Given the description of an element on the screen output the (x, y) to click on. 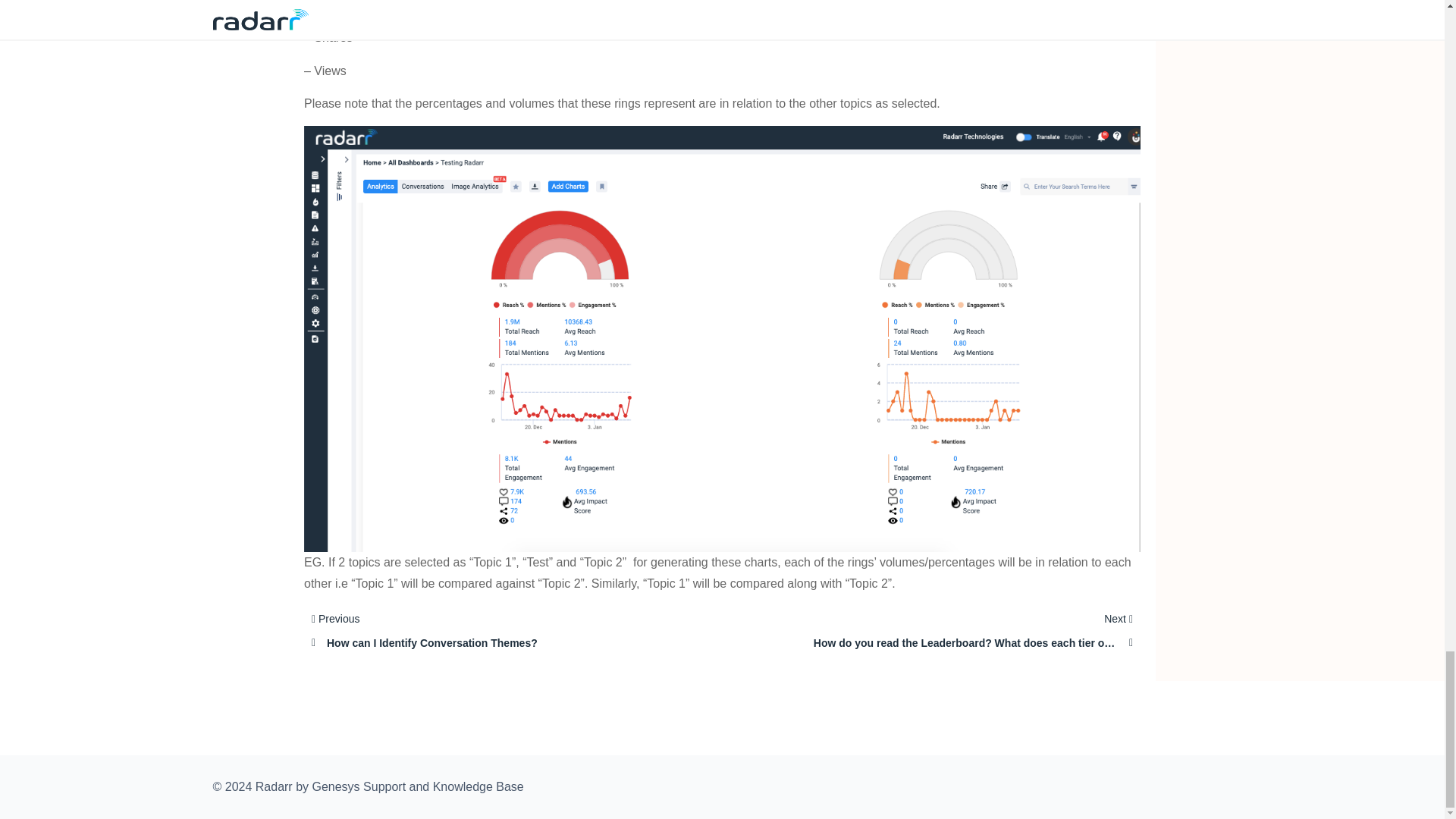
How can I Identify Conversation Themes? (471, 635)
